Given the description of an element on the screen output the (x, y) to click on. 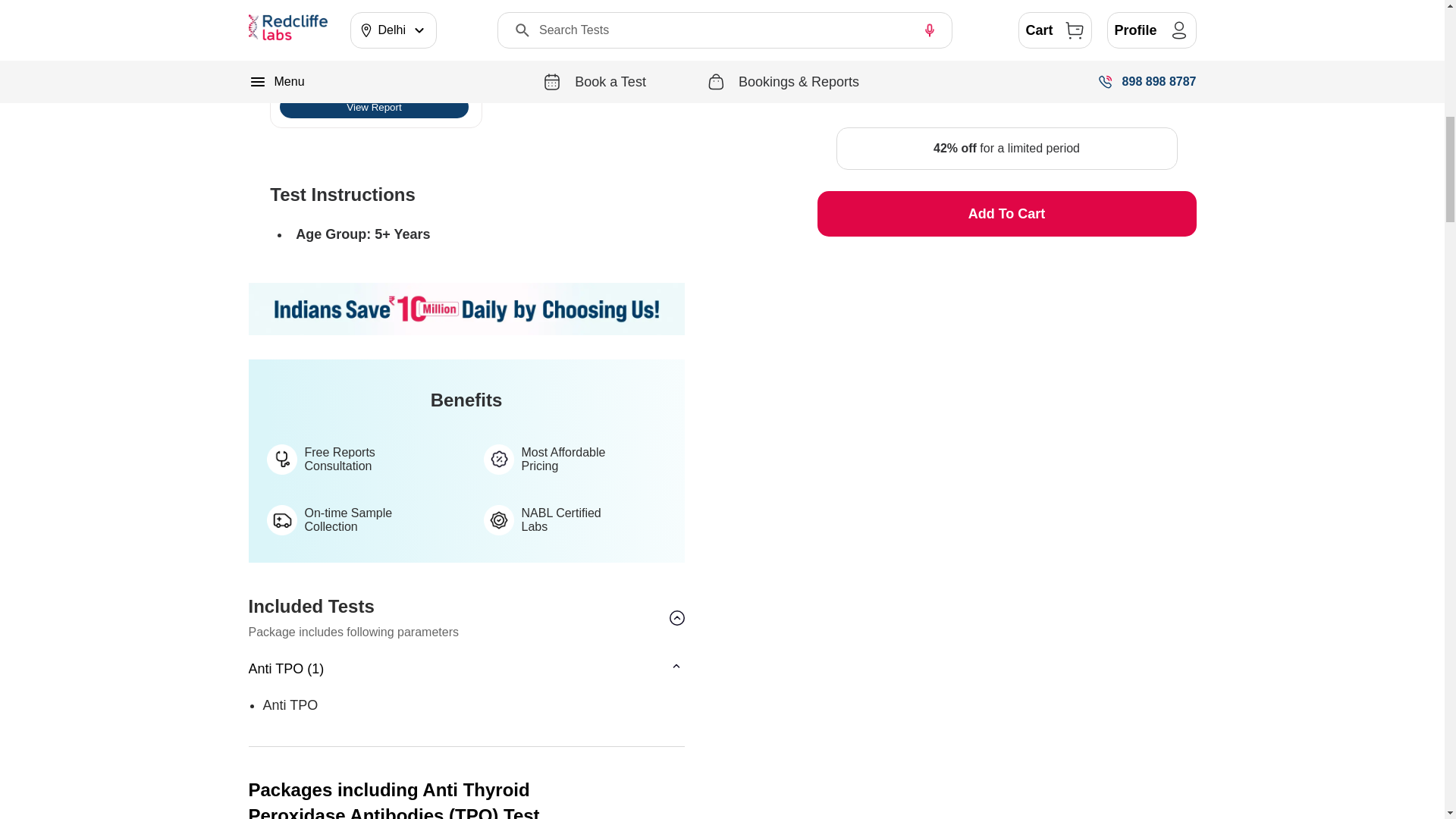
View Report (373, 106)
